Given the description of an element on the screen output the (x, y) to click on. 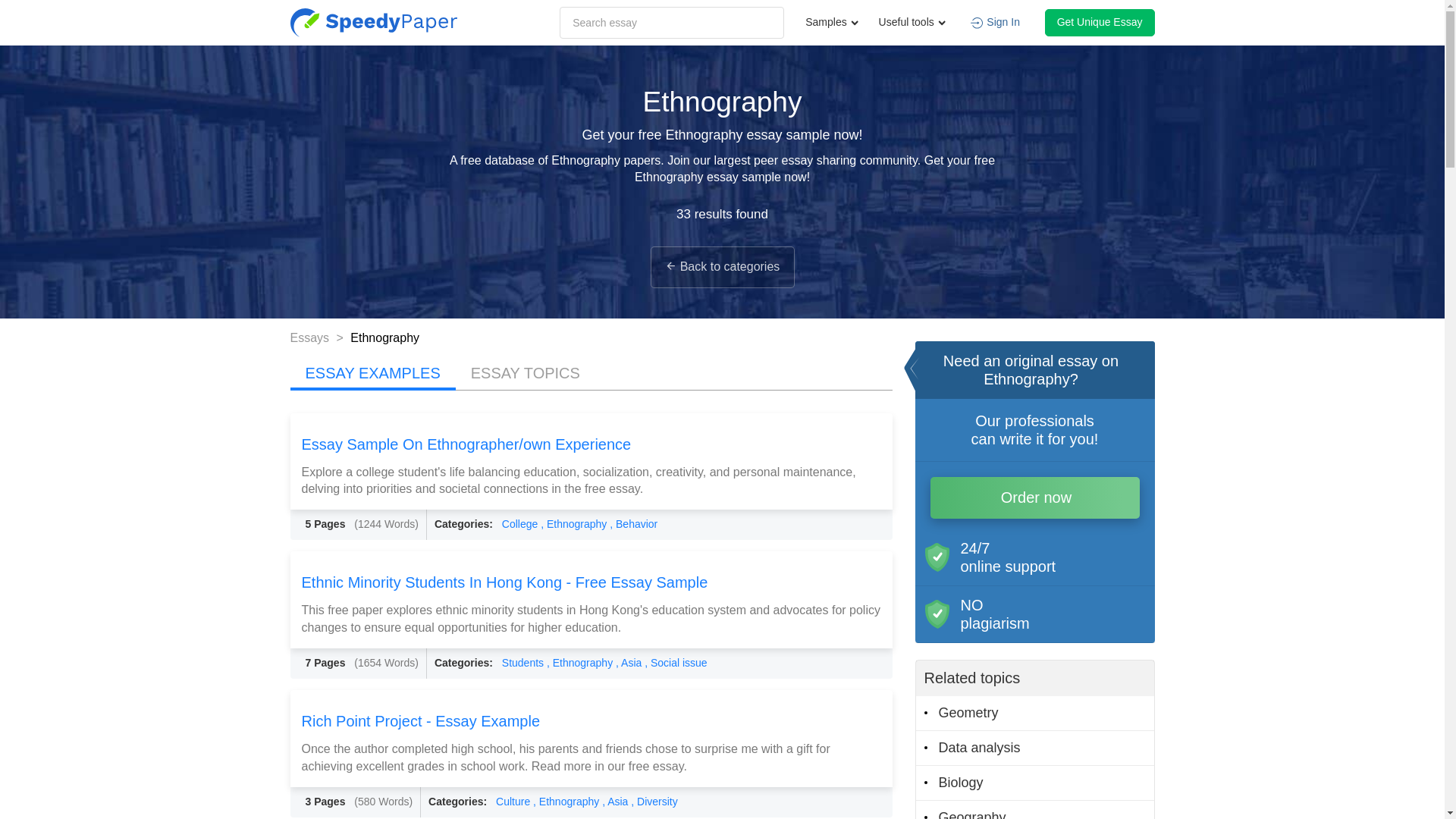
Get Unique Essay (1099, 22)
